Given the description of an element on the screen output the (x, y) to click on. 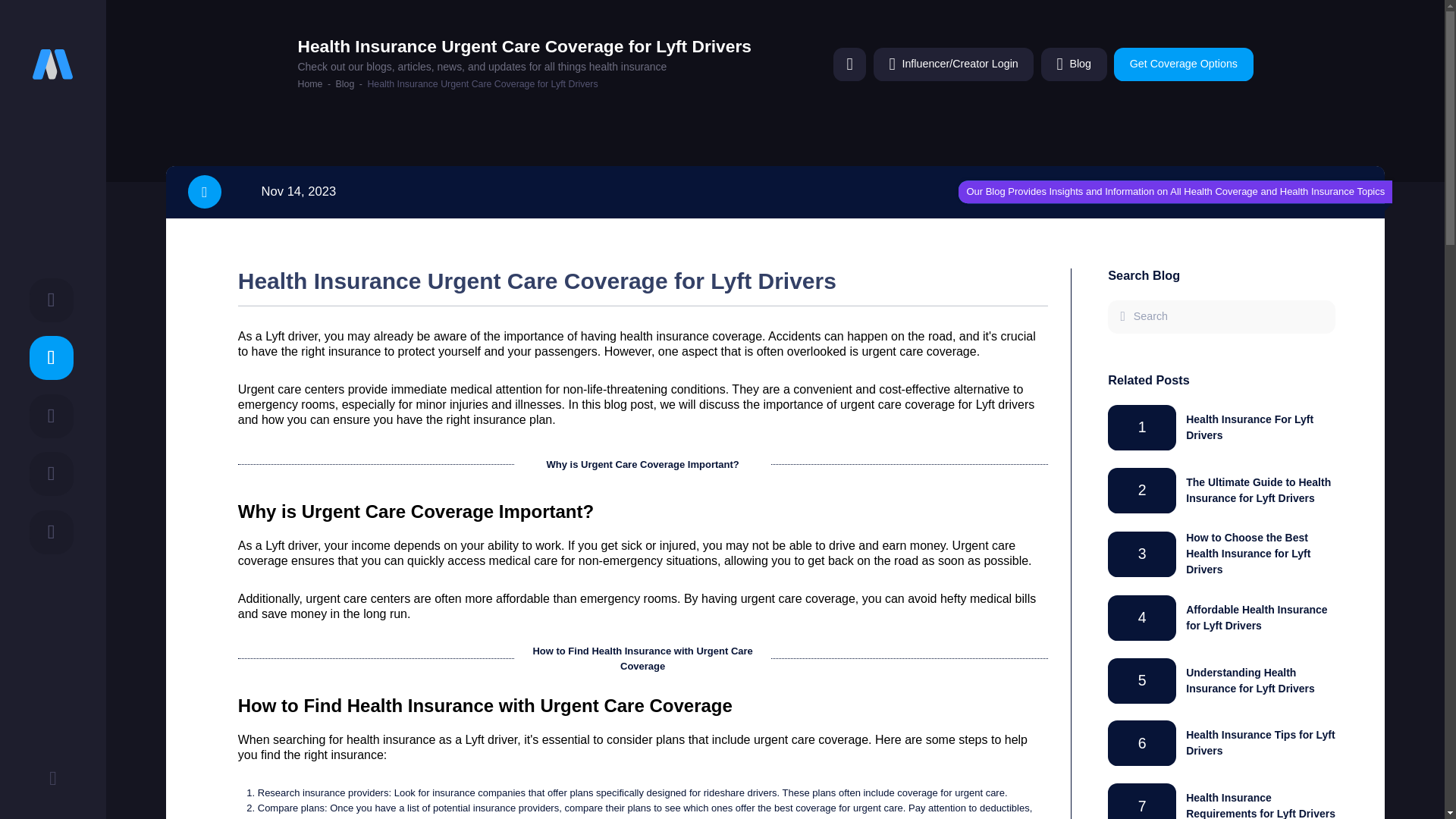
Home (309, 83)
The Ultimate Guide to Health Insurance for Lyft Drivers (1258, 489)
Health Insurance Requirements for Lyft Drivers (1260, 805)
Get Coverage Options (1182, 64)
Understanding Health Insurance for Lyft Drivers (1250, 680)
Affordable Health Insurance for Lyft Drivers (1256, 617)
Blog (1073, 64)
Health Insurance Tips for Lyft Drivers (1260, 742)
How to Choose the Best Health Insurance for Lyft Drivers (1248, 553)
Health Insurance For Lyft Drivers (1249, 427)
Blog (345, 83)
